Given the description of an element on the screen output the (x, y) to click on. 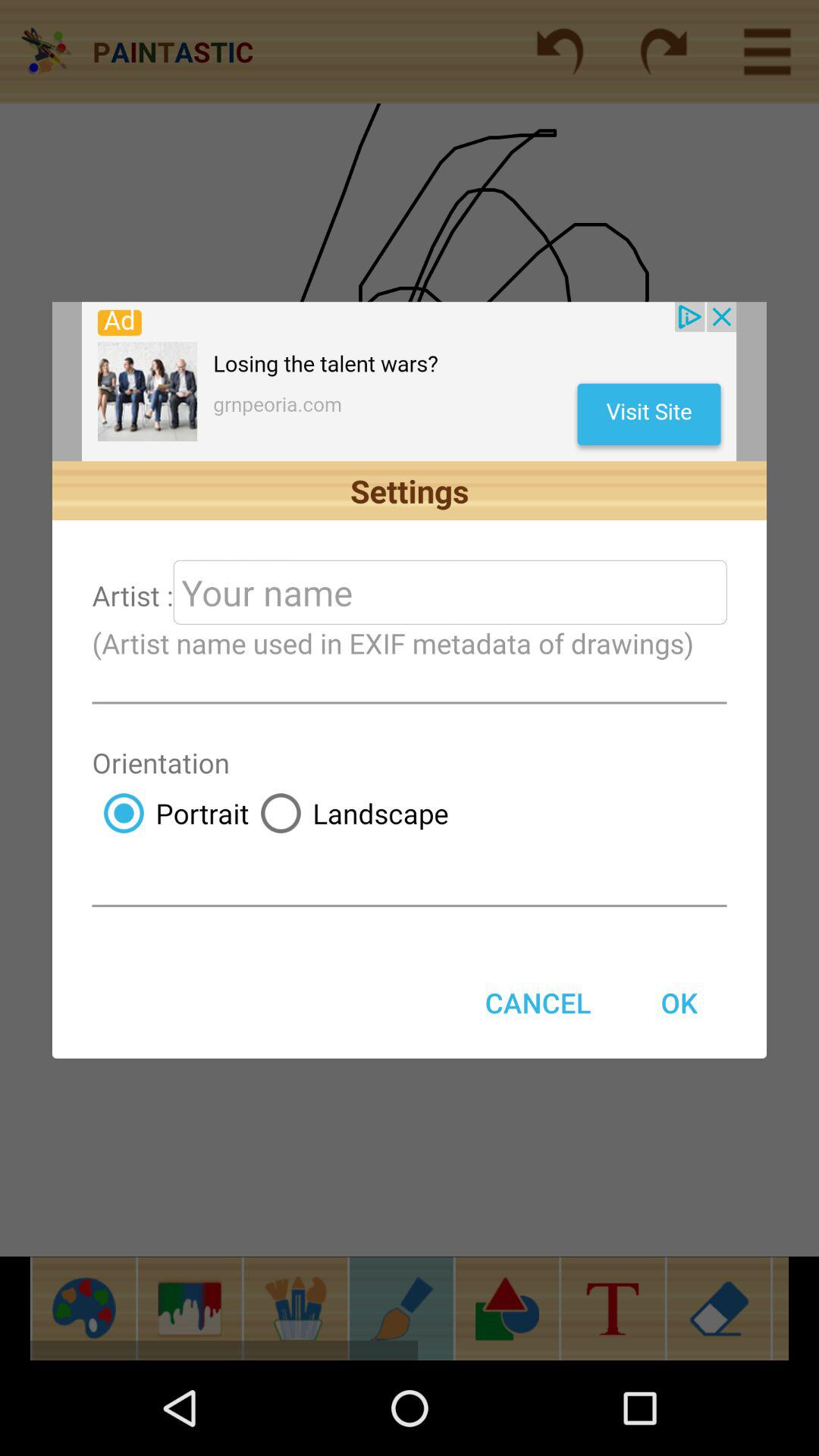
launch advertisement (408, 381)
